Given the description of an element on the screen output the (x, y) to click on. 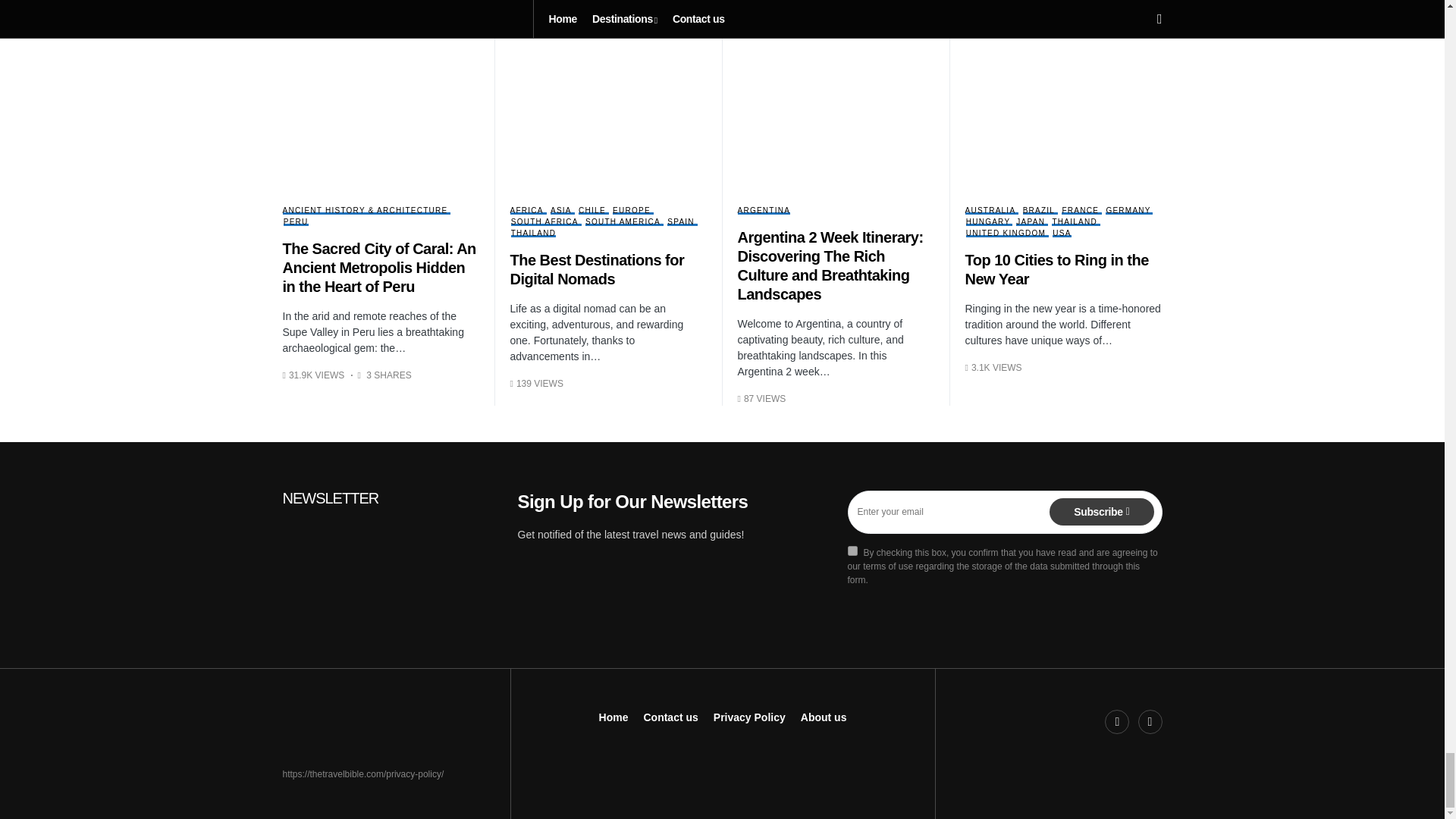
on (852, 551)
